Given the description of an element on the screen output the (x, y) to click on. 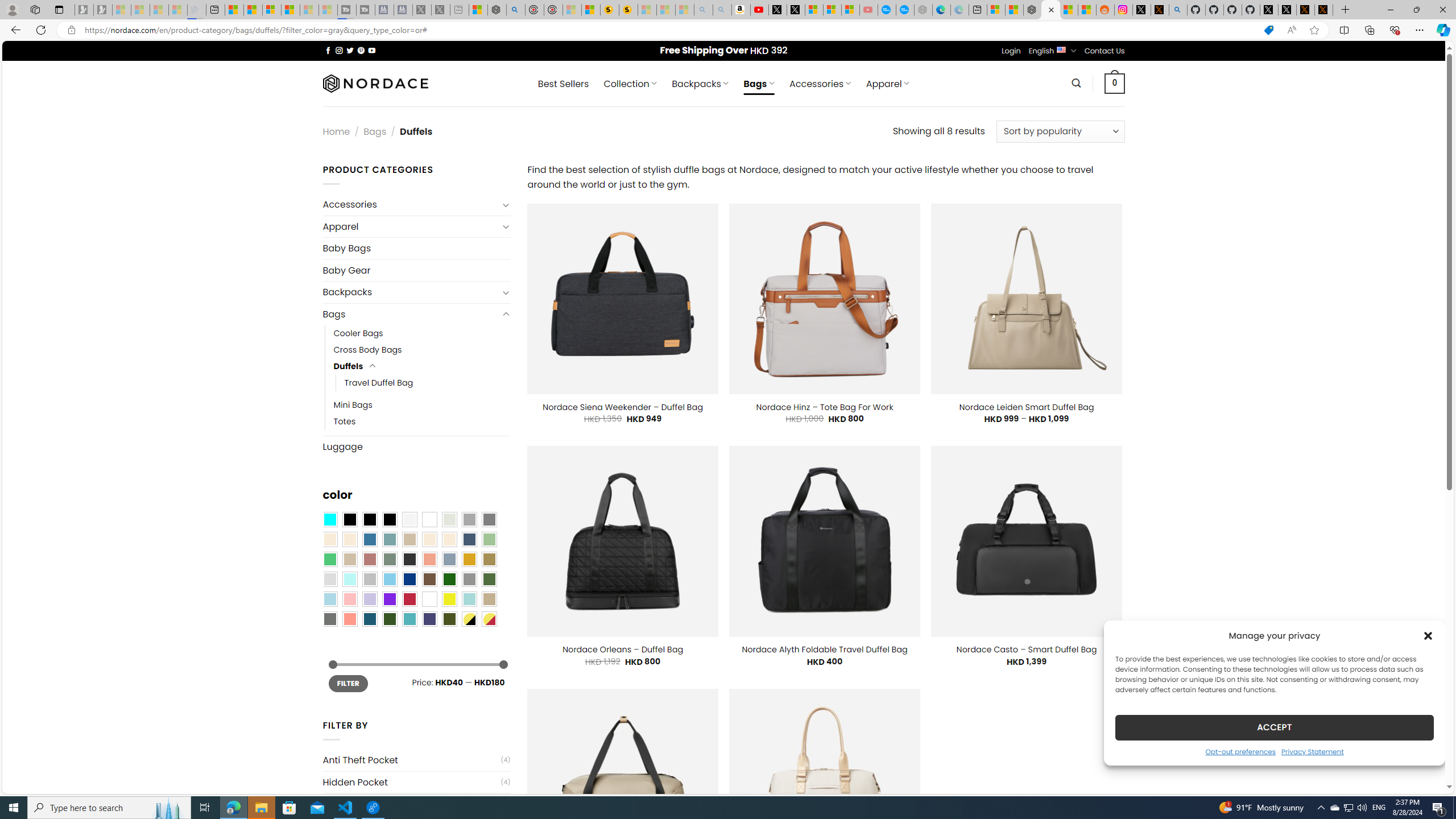
Anti Theft Pocket (410, 760)
Follow on Twitter (349, 49)
Gray (468, 579)
Hale Navy (468, 539)
Brownie (408, 539)
Peach Pink (349, 618)
Mint (349, 579)
help.x.com | 524: A timeout occurred (1159, 9)
Cross Body Bags (367, 349)
